Given the description of an element on the screen output the (x, y) to click on. 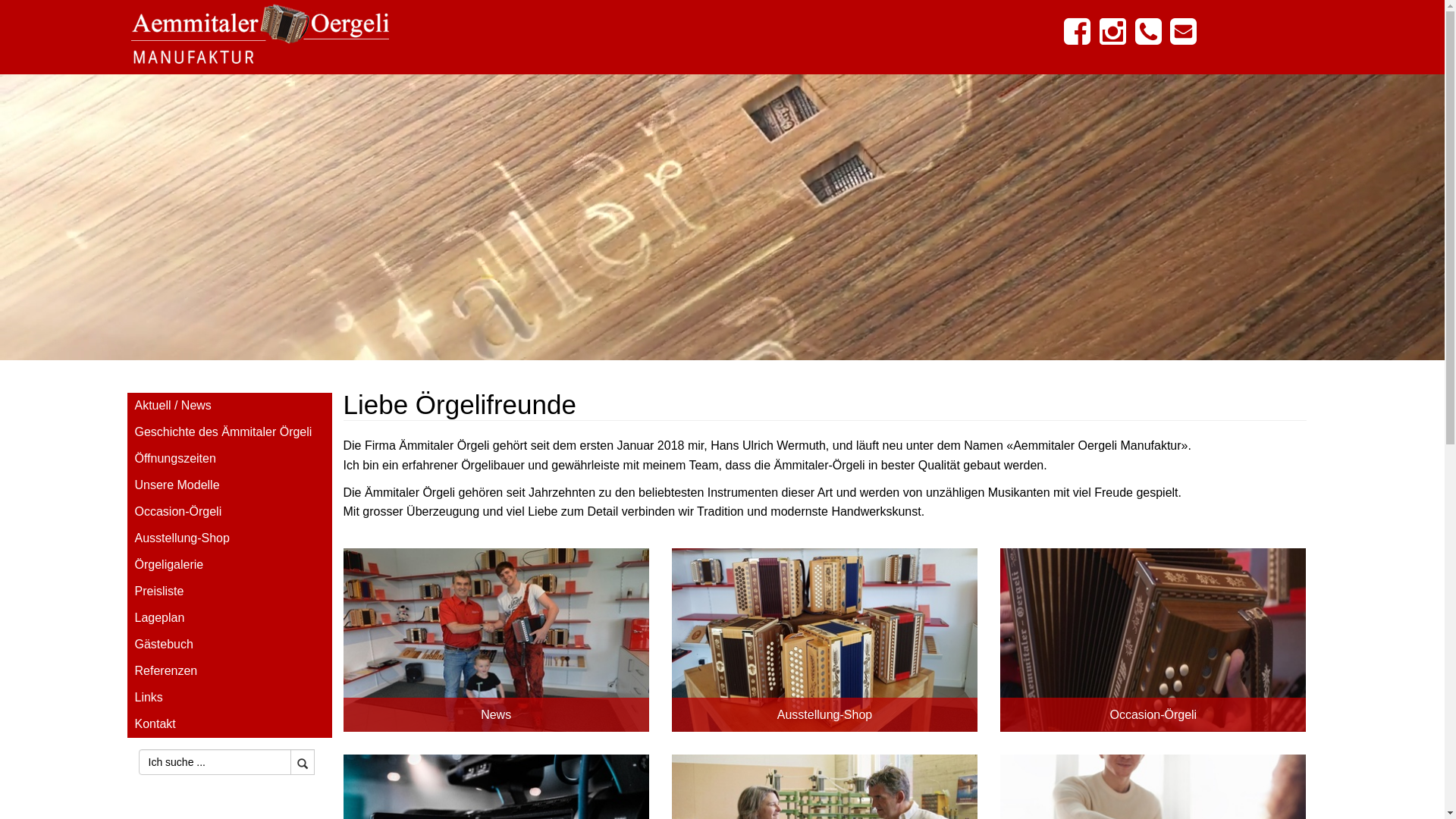
Ausstellung-Shop Element type: text (824, 639)
Preisliste Element type: text (229, 591)
Kontakt Element type: text (229, 724)
Ausstellung-Shop Element type: text (229, 538)
Referenzen Element type: text (229, 671)
News Element type: text (495, 639)
Lageplan Element type: text (229, 618)
Links Element type: text (229, 697)
Unsere Modelle Element type: text (229, 485)
Aktuell / News Element type: text (229, 405)
